Given the description of an element on the screen output the (x, y) to click on. 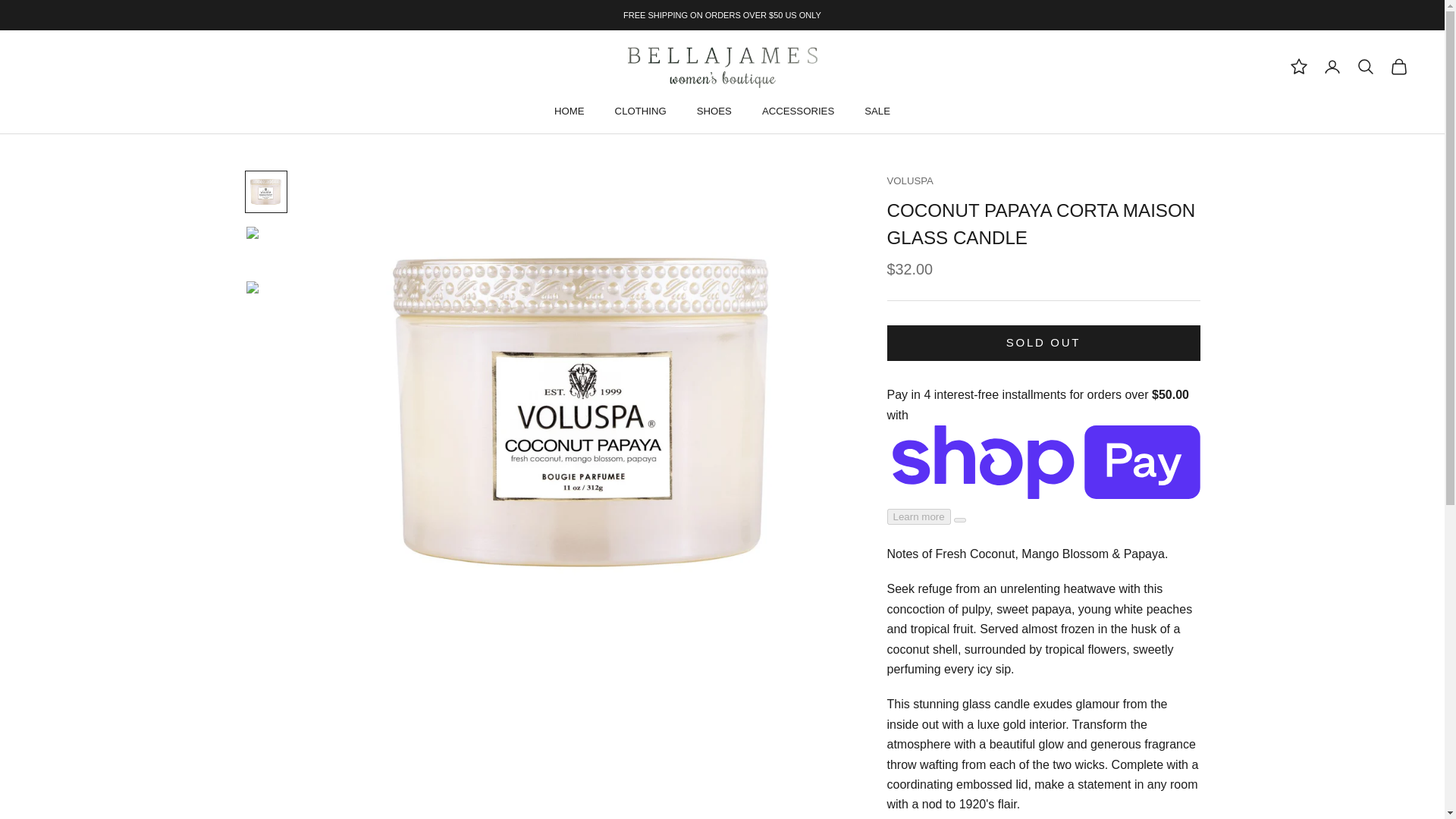
Open search (1365, 66)
Open account page (1331, 66)
BellaJames Women's Boutique (721, 66)
SHOES (714, 111)
HOME (569, 111)
SALE (876, 111)
Open cart (1398, 66)
